Given the description of an element on the screen output the (x, y) to click on. 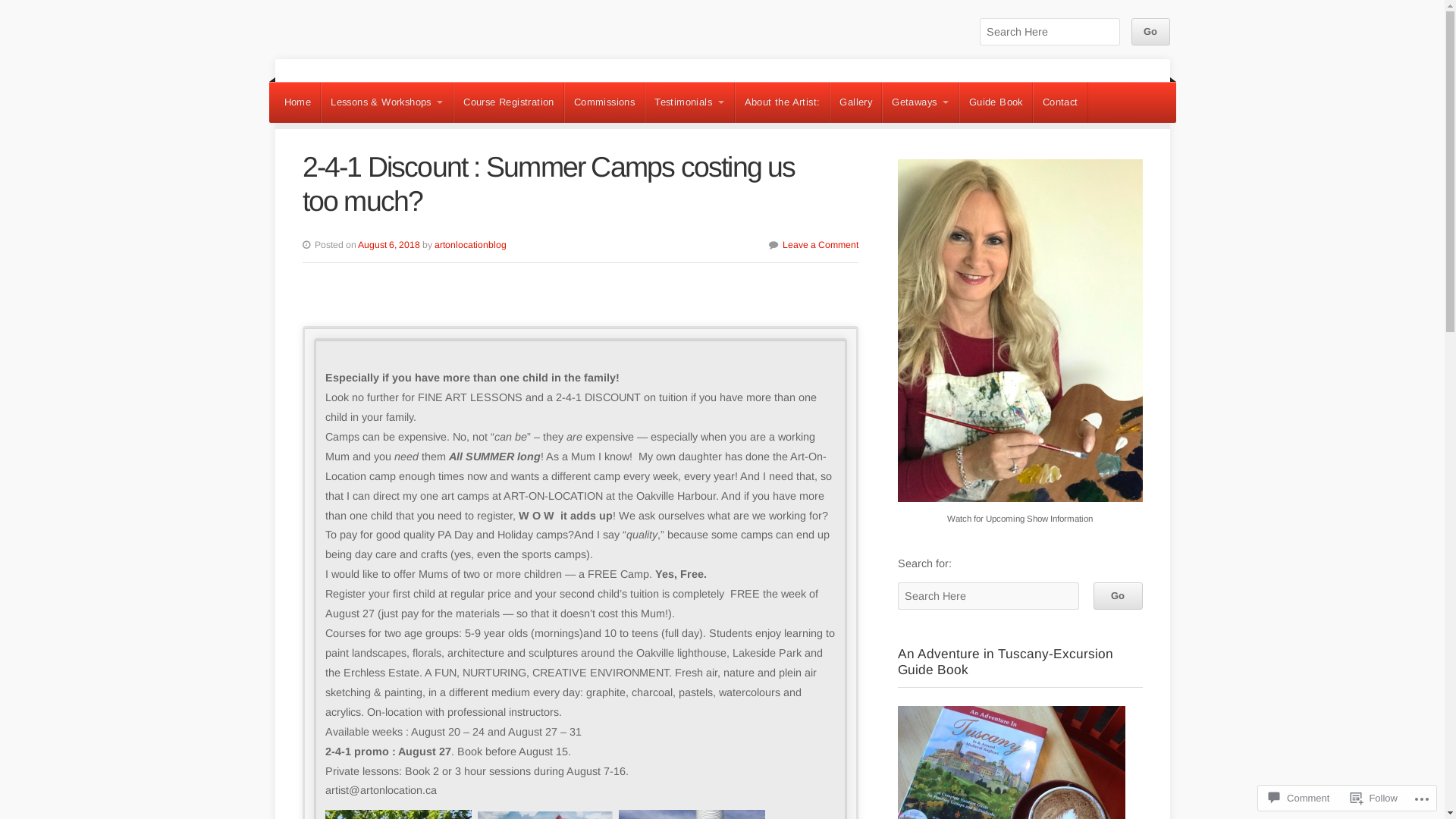
Gallery Element type: text (855, 101)
Search for: Element type: hover (1049, 31)
Home Element type: text (297, 101)
August 6, 2018 Element type: text (388, 244)
ART ON LOCATION Element type: text (372, 59)
Go Element type: text (1117, 595)
About the Artist: Element type: text (782, 101)
Go Element type: text (1150, 31)
Testimonials Element type: text (689, 101)
Lessons & Workshops Element type: text (386, 101)
Leave a Comment Element type: text (820, 244)
Course Registration Element type: text (508, 101)
Follow Element type: text (1373, 797)
Contact Element type: text (1060, 101)
Getaways Element type: text (920, 101)
artonlocationblog Element type: text (469, 244)
Comment Element type: text (1298, 797)
Commissions Element type: text (603, 101)
Guide Book Element type: text (996, 101)
